Given the description of an element on the screen output the (x, y) to click on. 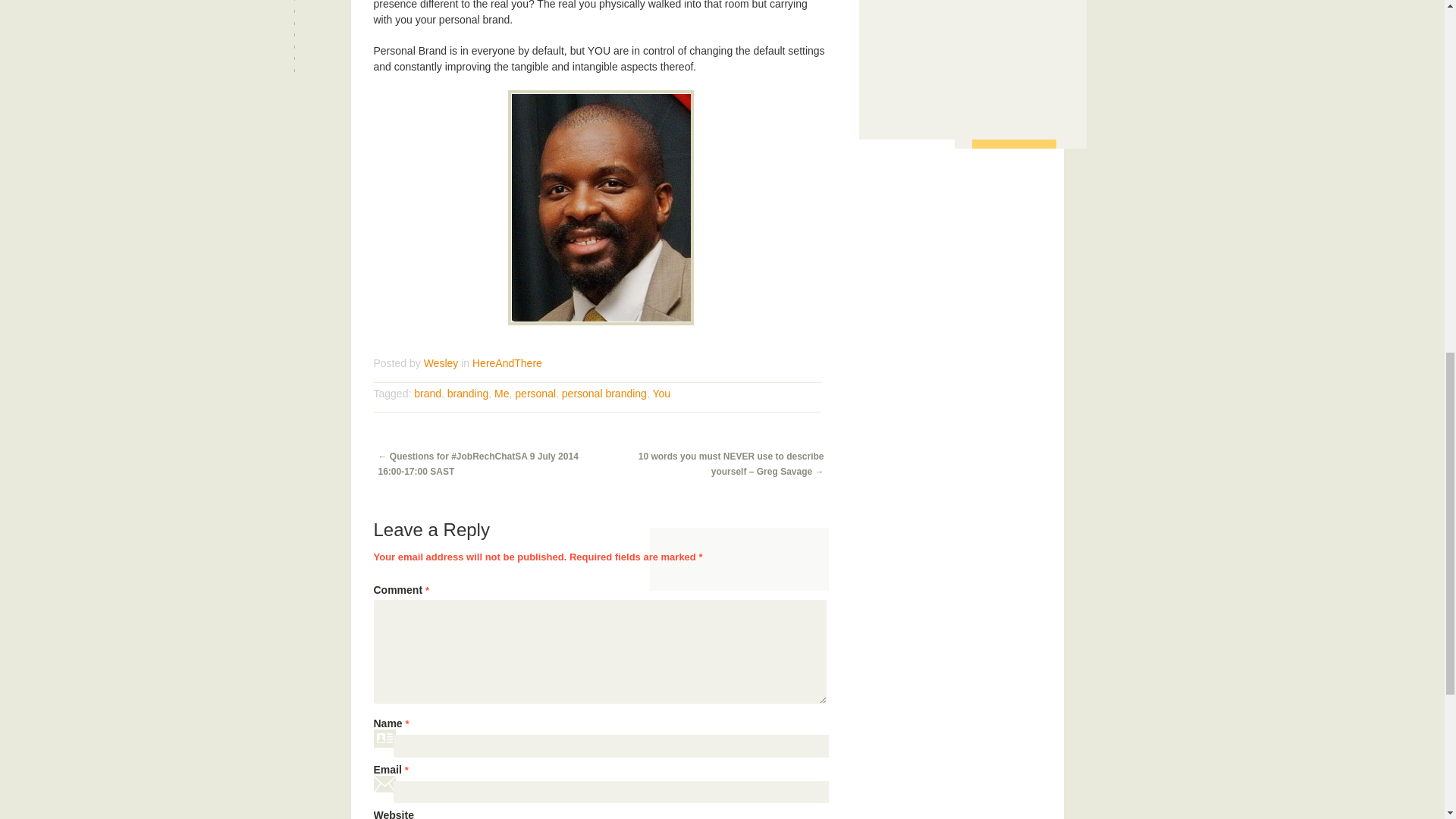
Me (501, 393)
Wesley (440, 363)
personal (535, 393)
brand (427, 393)
HereAndThere (506, 363)
You (660, 393)
branding (467, 393)
personal branding (604, 393)
View all posts by Wesley (440, 363)
